Given the description of an element on the screen output the (x, y) to click on. 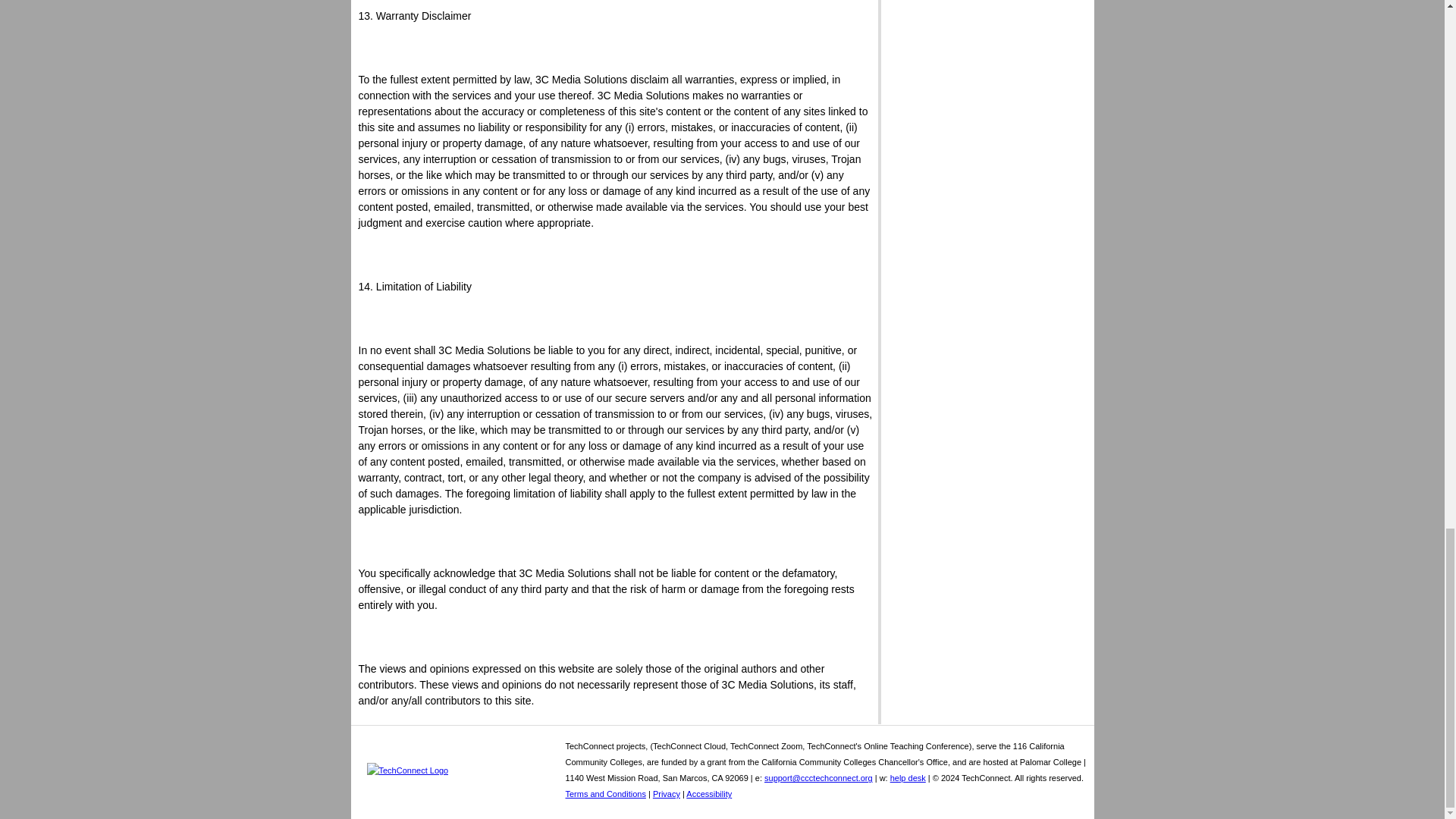
Privacy (665, 793)
Terms and Conditions (606, 793)
Accessibility (708, 793)
help desk (907, 777)
